Given the description of an element on the screen output the (x, y) to click on. 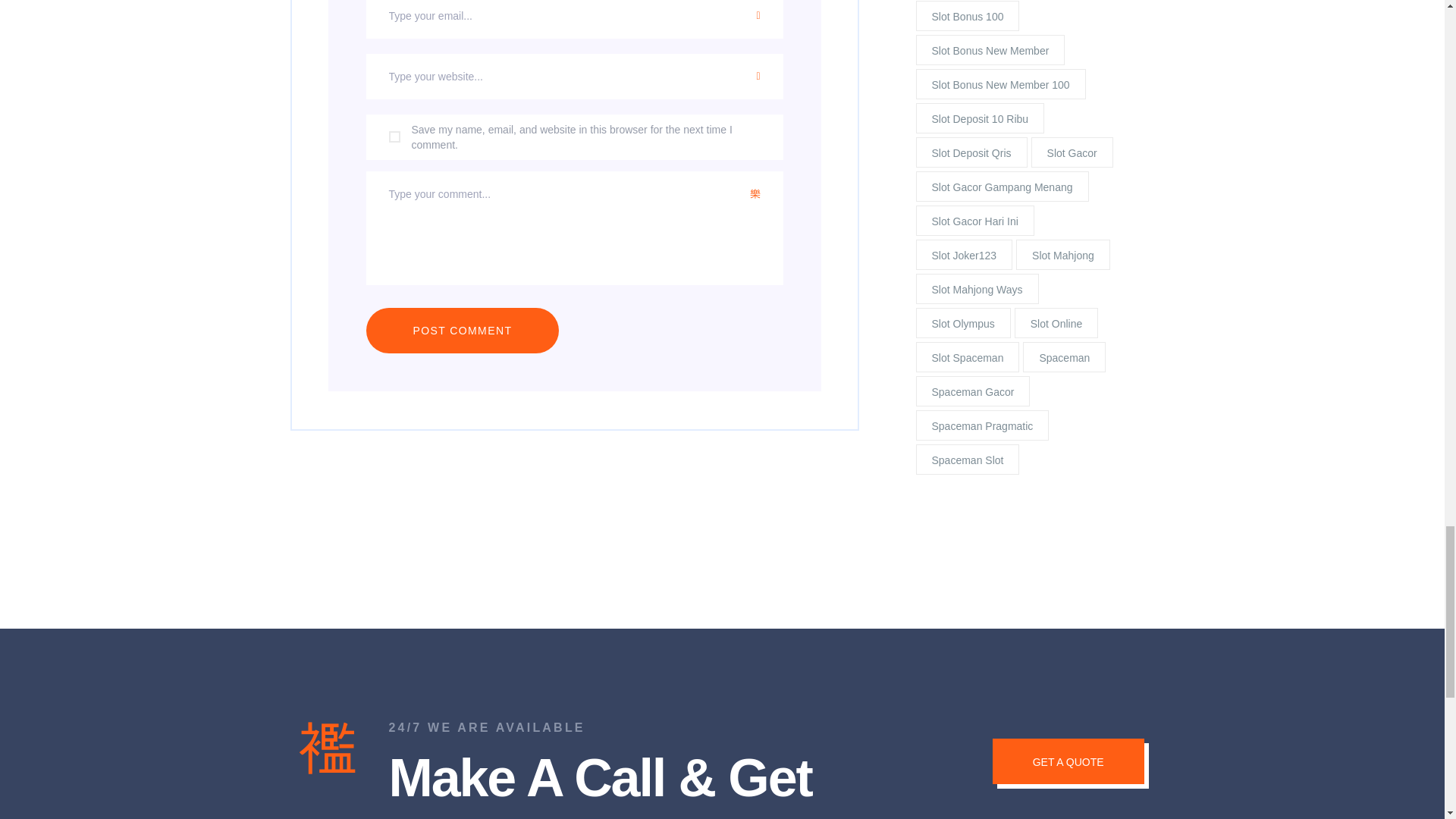
Post Comment (462, 329)
